Given the description of an element on the screen output the (x, y) to click on. 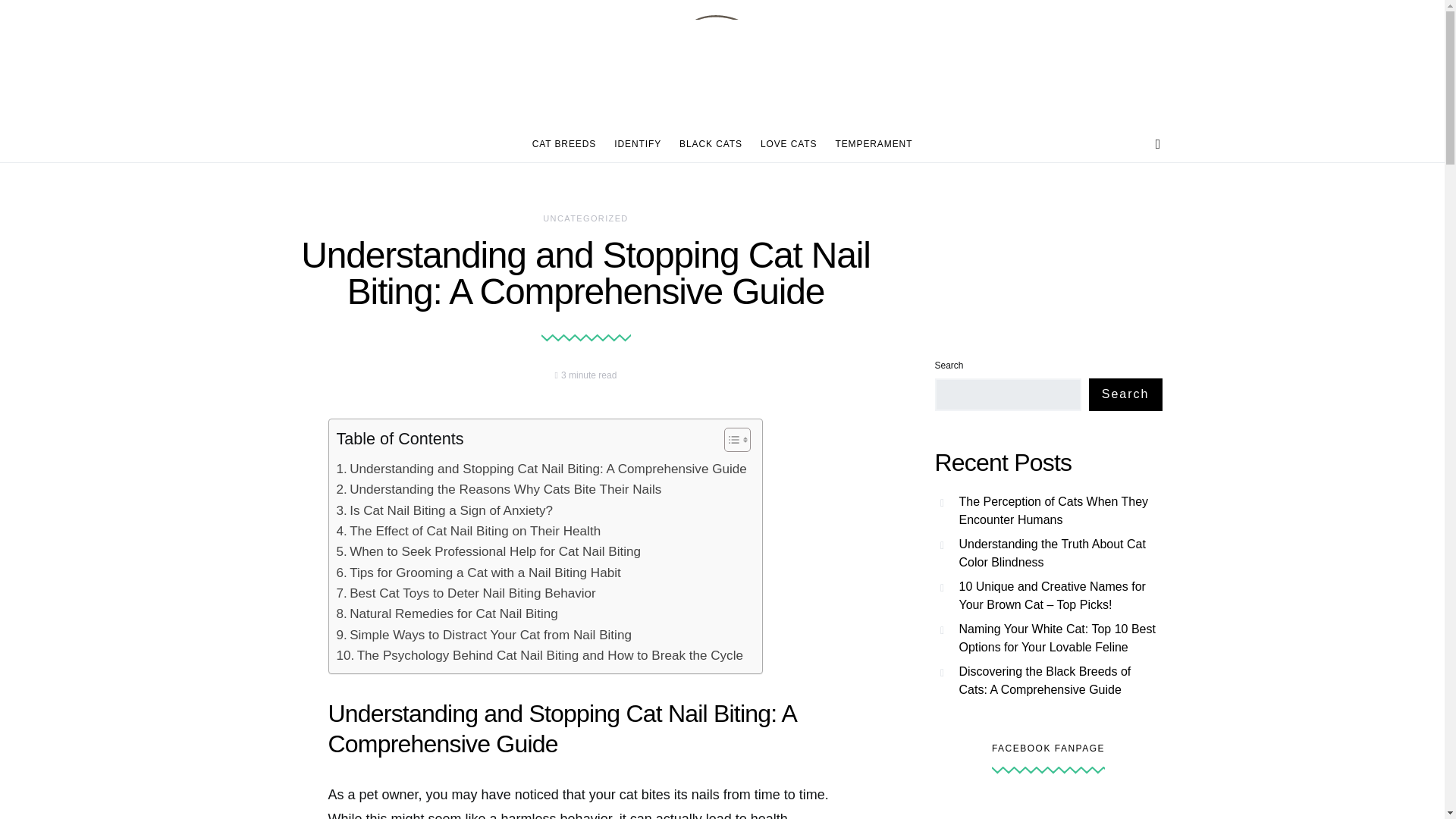
Simple Ways to Distract Your Cat from Nail Biting (483, 634)
Best Cat Toys to Deter Nail Biting Behavior (465, 593)
Natural Remedies for Cat Nail Biting (446, 613)
The Effect of Cat Nail Biting on Their Health (468, 530)
Is Cat Nail Biting a Sign of Anxiety? (444, 510)
When to Seek Professional Help for Cat Nail Biting (489, 551)
Understanding the Reasons Why Cats Bite Their Nails (499, 489)
Tips for Grooming a Cat with a Nail Biting Habit (478, 572)
